Given the description of an element on the screen output the (x, y) to click on. 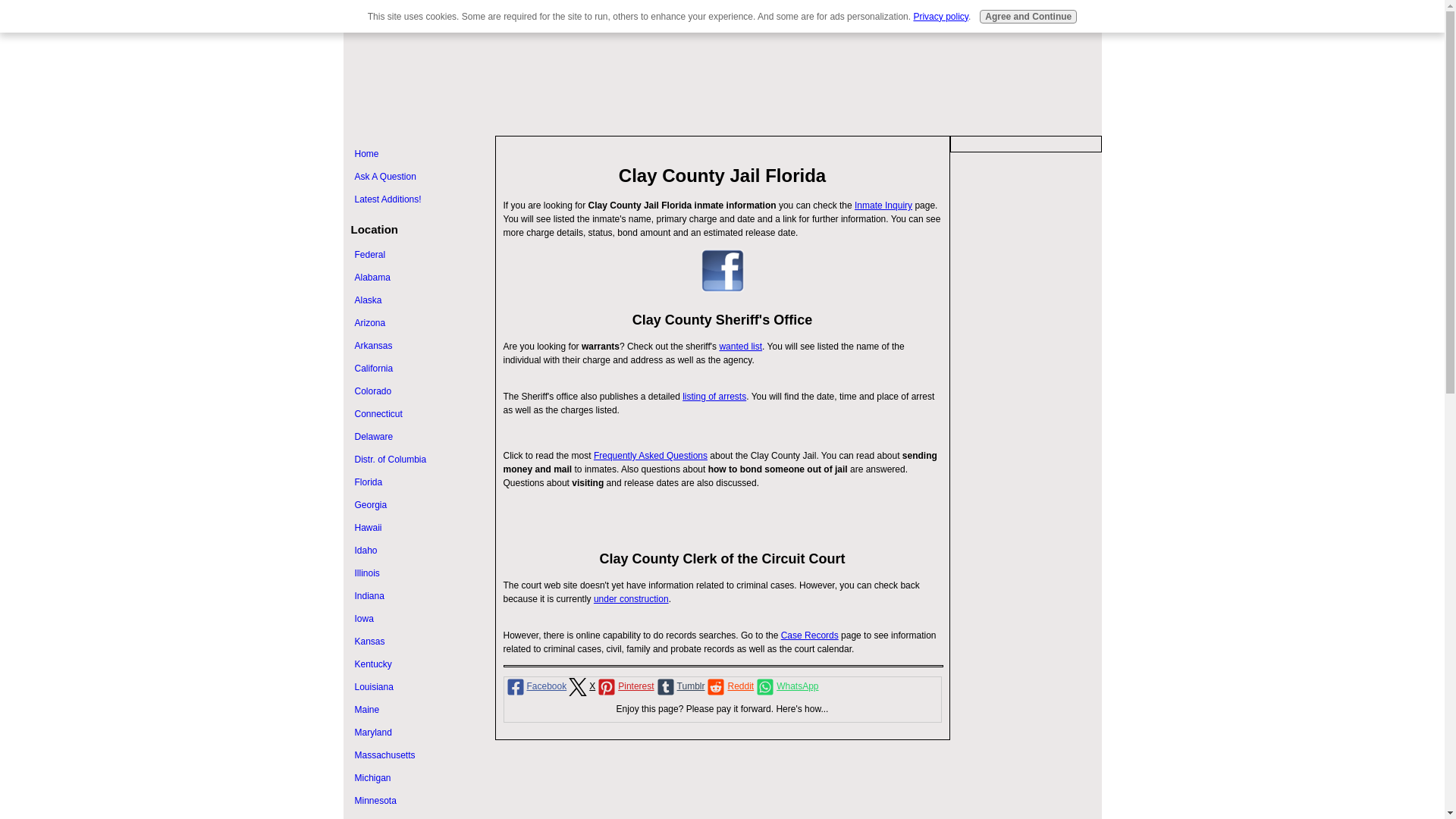
Louisiana (418, 686)
Maryland (418, 731)
Massachusetts (418, 754)
Kansas (418, 640)
under construction (631, 598)
Colorado (418, 391)
Home (418, 153)
Arkansas (418, 345)
Tumblr (678, 686)
Hawaii (418, 527)
